Given the description of an element on the screen output the (x, y) to click on. 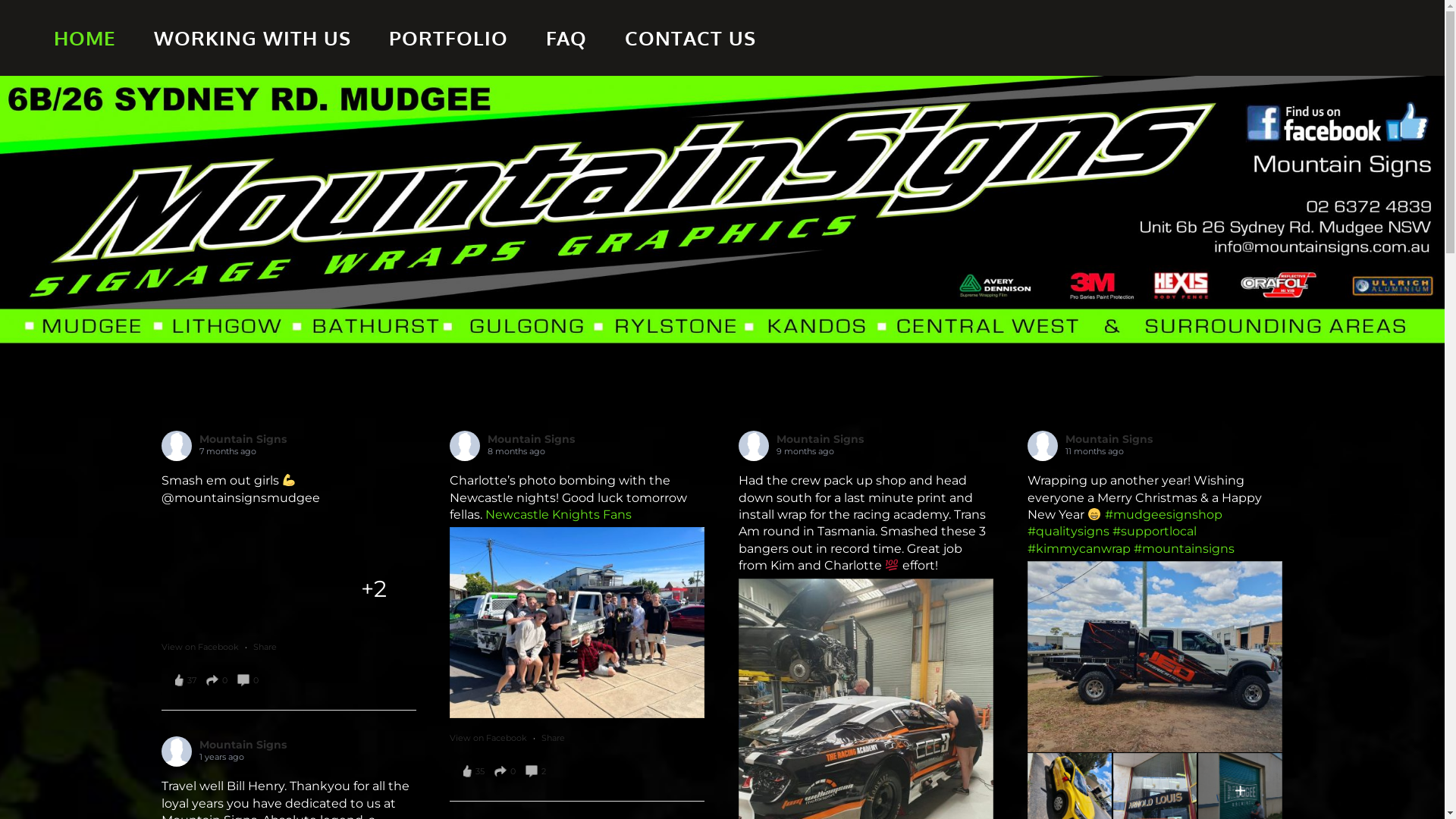
WORKING WITH US Element type: text (252, 37)
Mountain Signs Element type: text (242, 744)
#mudgeesignshop Element type: text (1163, 514)
Mountain Signs Element type: text (1108, 438)
View Comments
Likes:
37
Shares:
0
Comments:
0 Element type: text (215, 680)
#qualitysigns Element type: text (1068, 531)
Mountain Signs Element type: text (242, 438)
#supportlocal Element type: text (1154, 531)
HOME Element type: text (84, 37)
PORTFOLIO Element type: text (448, 37)
Mountain Signs Element type: text (530, 438)
#mountainsigns Element type: text (1183, 548)
CONTACT US Element type: text (690, 37)
#kimmycanwrap Element type: text (1078, 548)
Newcastle Knights Fans Element type: text (558, 514)
View on Facebook Element type: text (489, 737)
FAQ Element type: text (566, 37)
Share Element type: text (552, 737)
View Comments
Likes:
35
Shares:
0
Comments:
2 Element type: text (503, 771)
View on Facebook Element type: text (201, 646)
Mountain Signs Element type: text (819, 438)
Share Element type: text (264, 646)
